Given the description of an element on the screen output the (x, y) to click on. 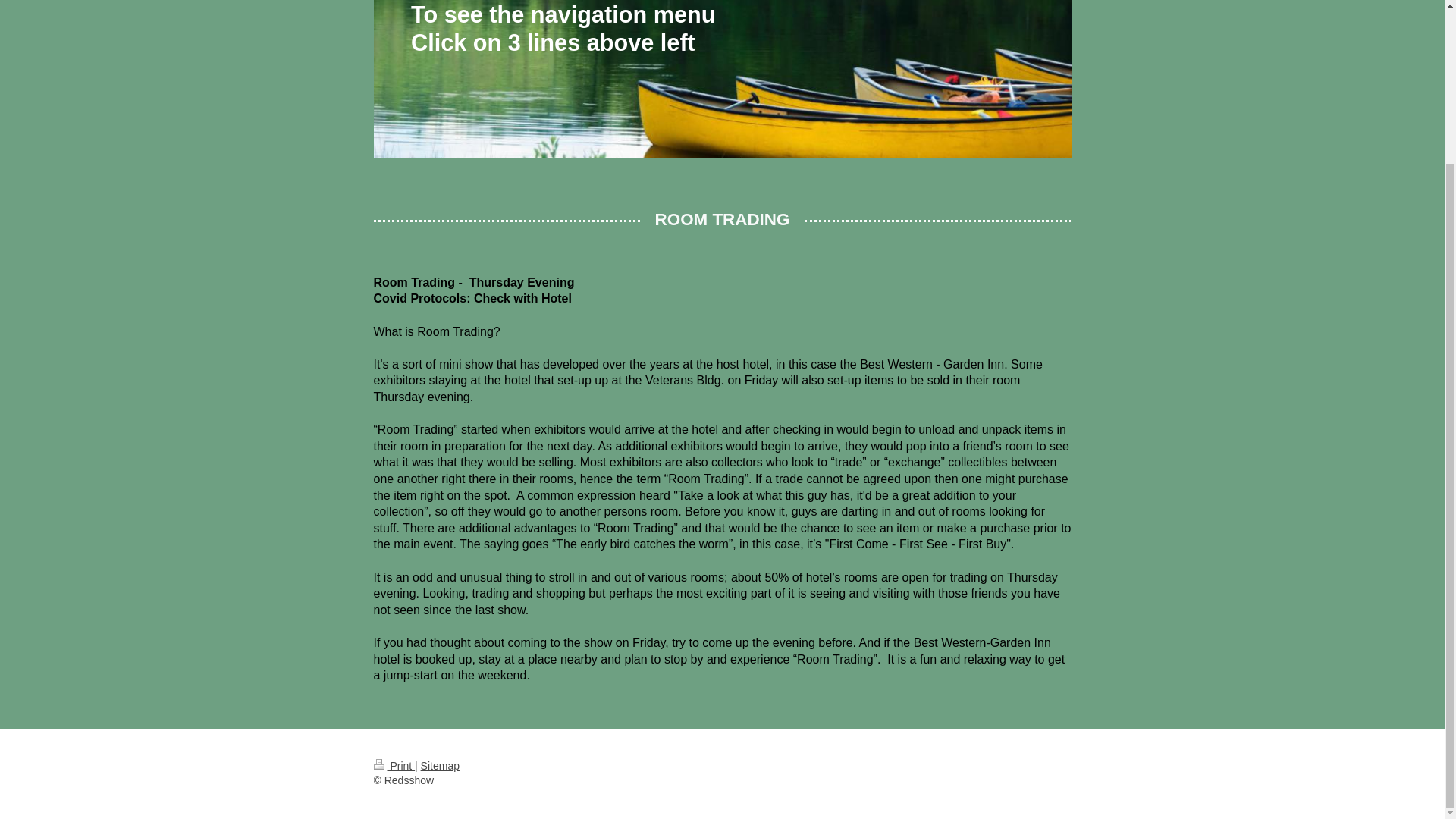
Sitemap (440, 766)
Print (393, 766)
